Given the description of an element on the screen output the (x, y) to click on. 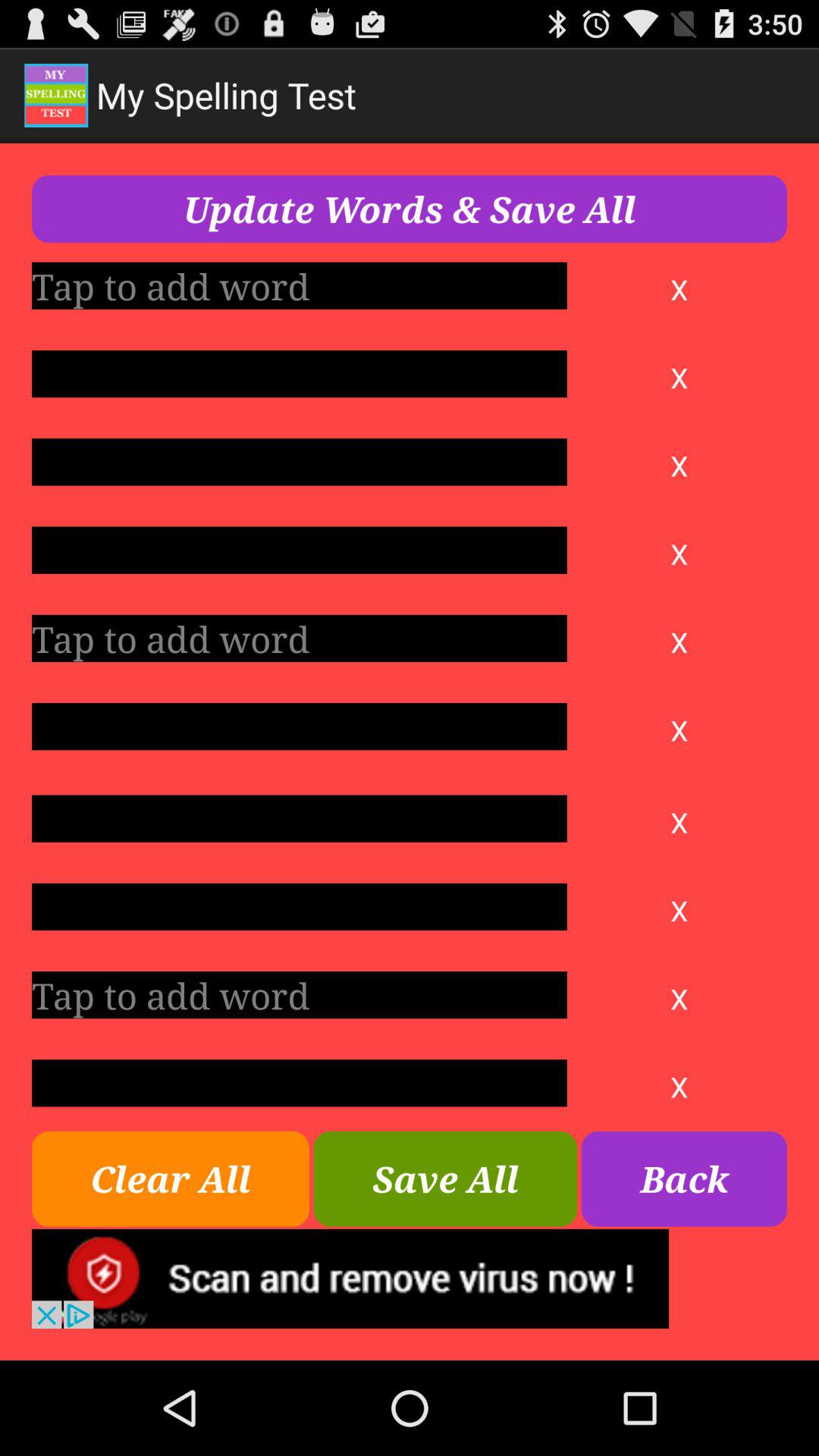
tap to add word (299, 461)
